Given the description of an element on the screen output the (x, y) to click on. 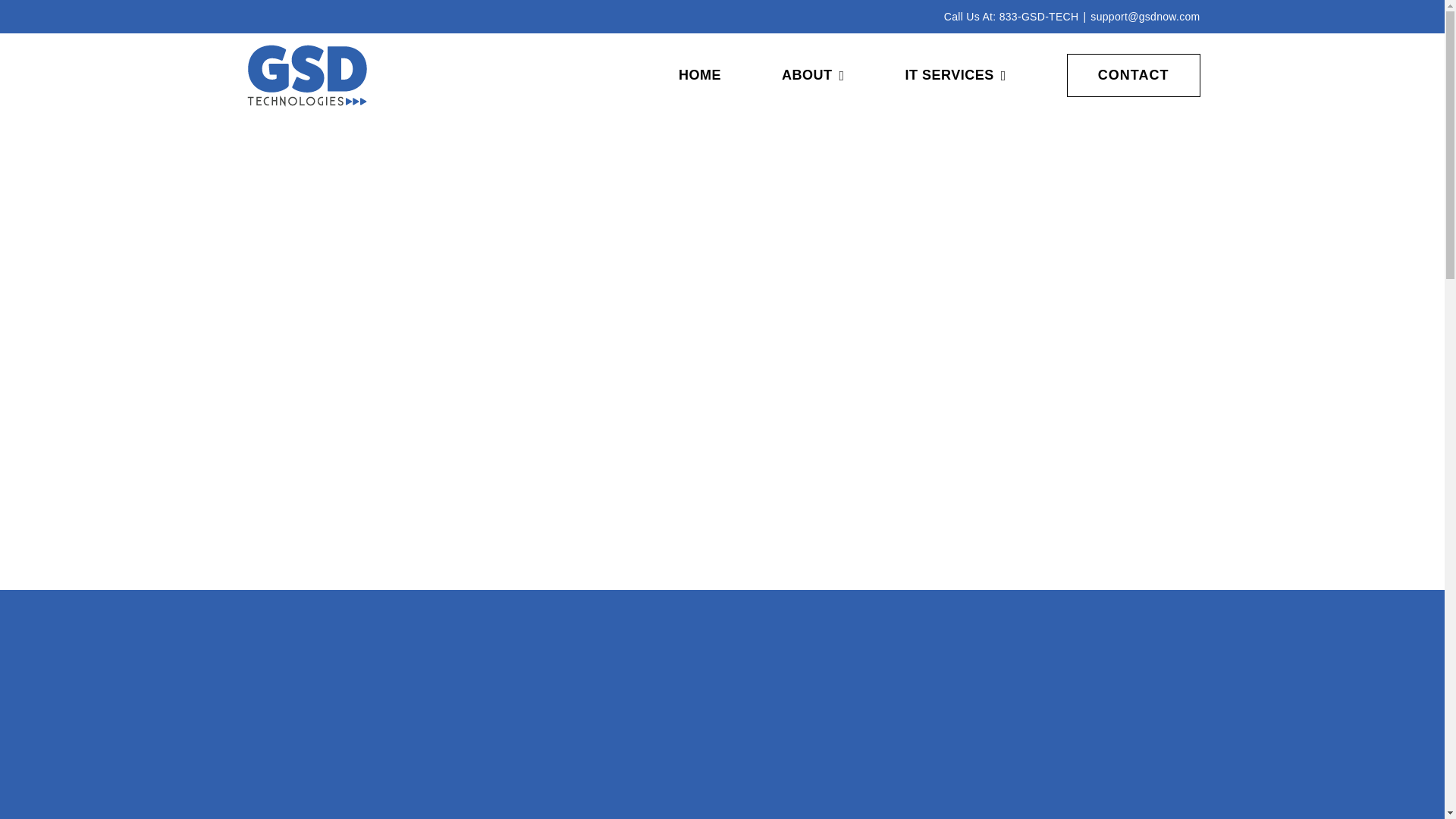
IT SERVICES (955, 75)
CONTACT (1133, 75)
ABOUT (812, 75)
HOME (699, 75)
833-GSD-TECH (1038, 16)
